Given the description of an element on the screen output the (x, y) to click on. 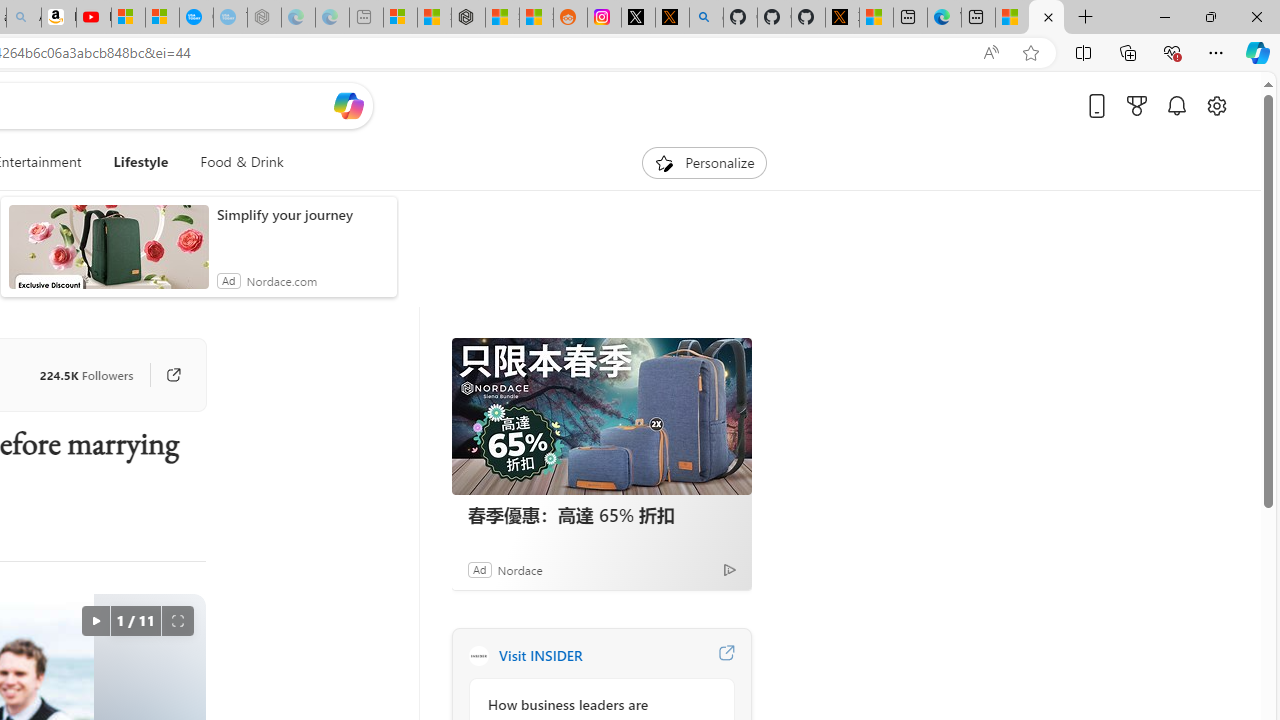
autorotate button (95, 620)
help.x.com | 524: A timeout occurred (671, 17)
Full screen (177, 620)
Personalize (703, 162)
Open settings (1216, 105)
Nordace.com (281, 280)
Opinion: Op-Ed and Commentary - USA TODAY (196, 17)
